Given the description of an element on the screen output the (x, y) to click on. 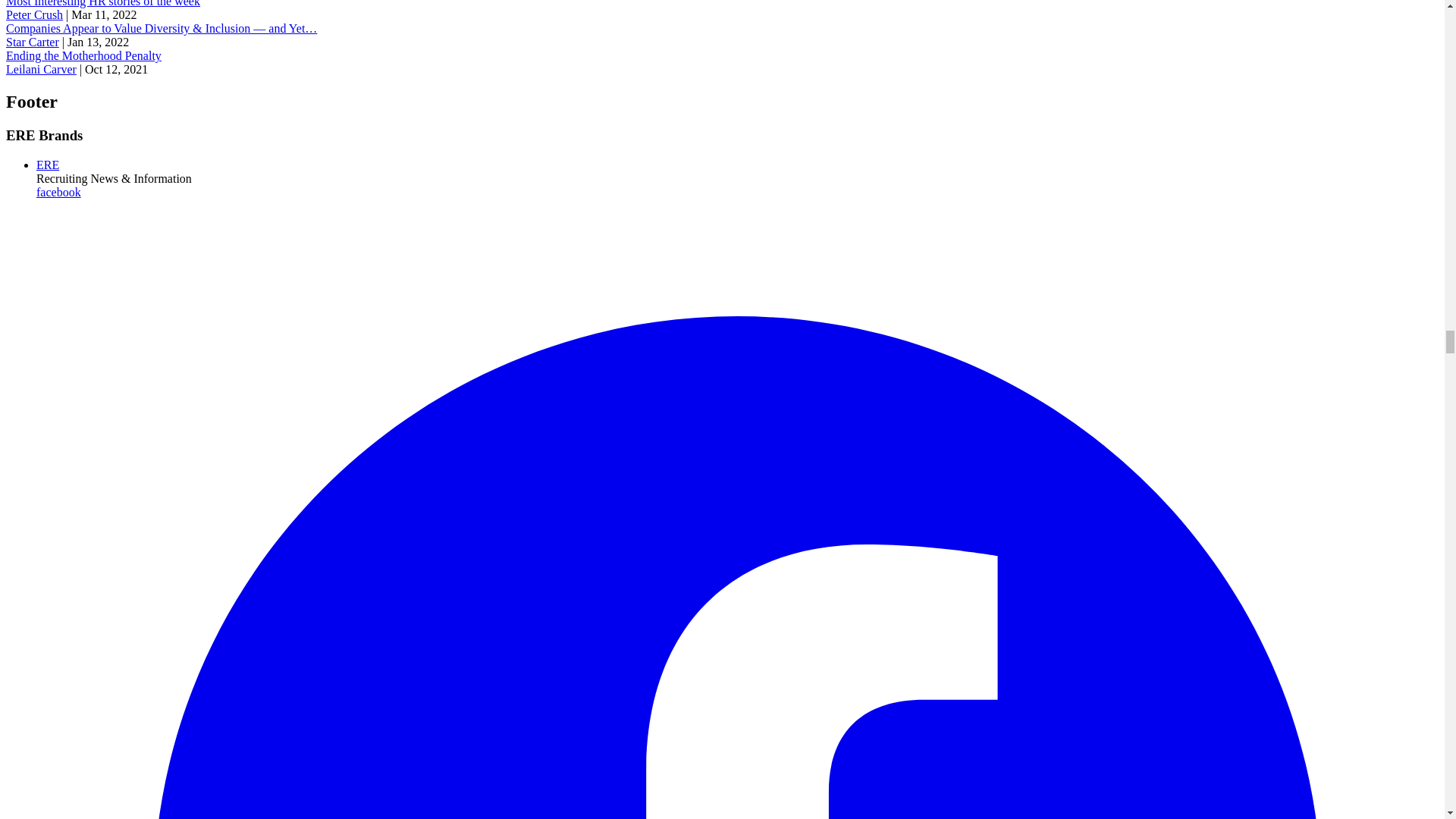
Most Interesting HR stories of the week (102, 3)
ERE (47, 164)
Peter Crush (33, 14)
Star Carter (32, 42)
Ending the Motherhood Penalty (83, 55)
Leilani Carver (41, 69)
